Given the description of an element on the screen output the (x, y) to click on. 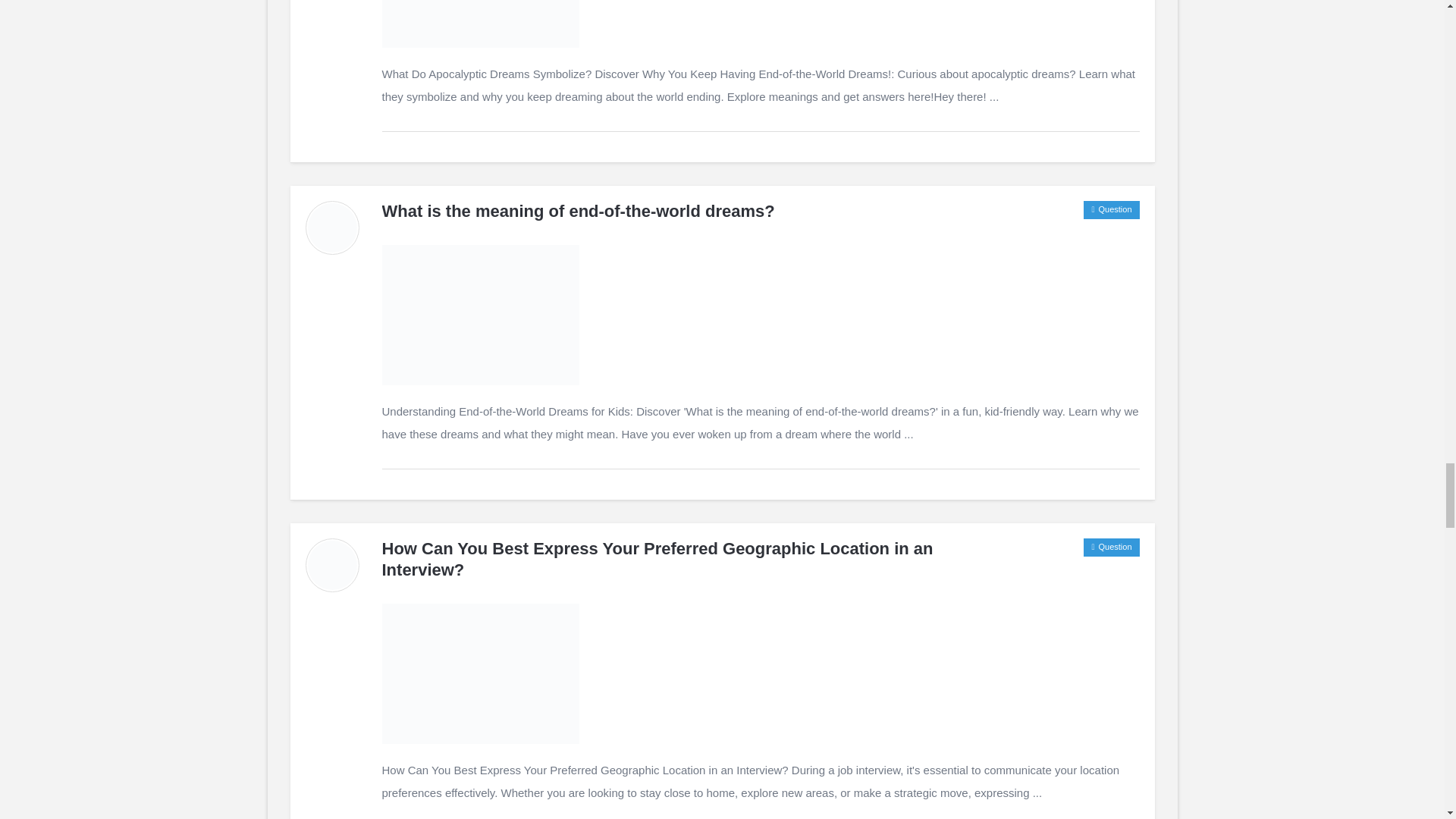
What is the meaning of end-of-the-world dreams? (577, 210)
